Given the description of an element on the screen output the (x, y) to click on. 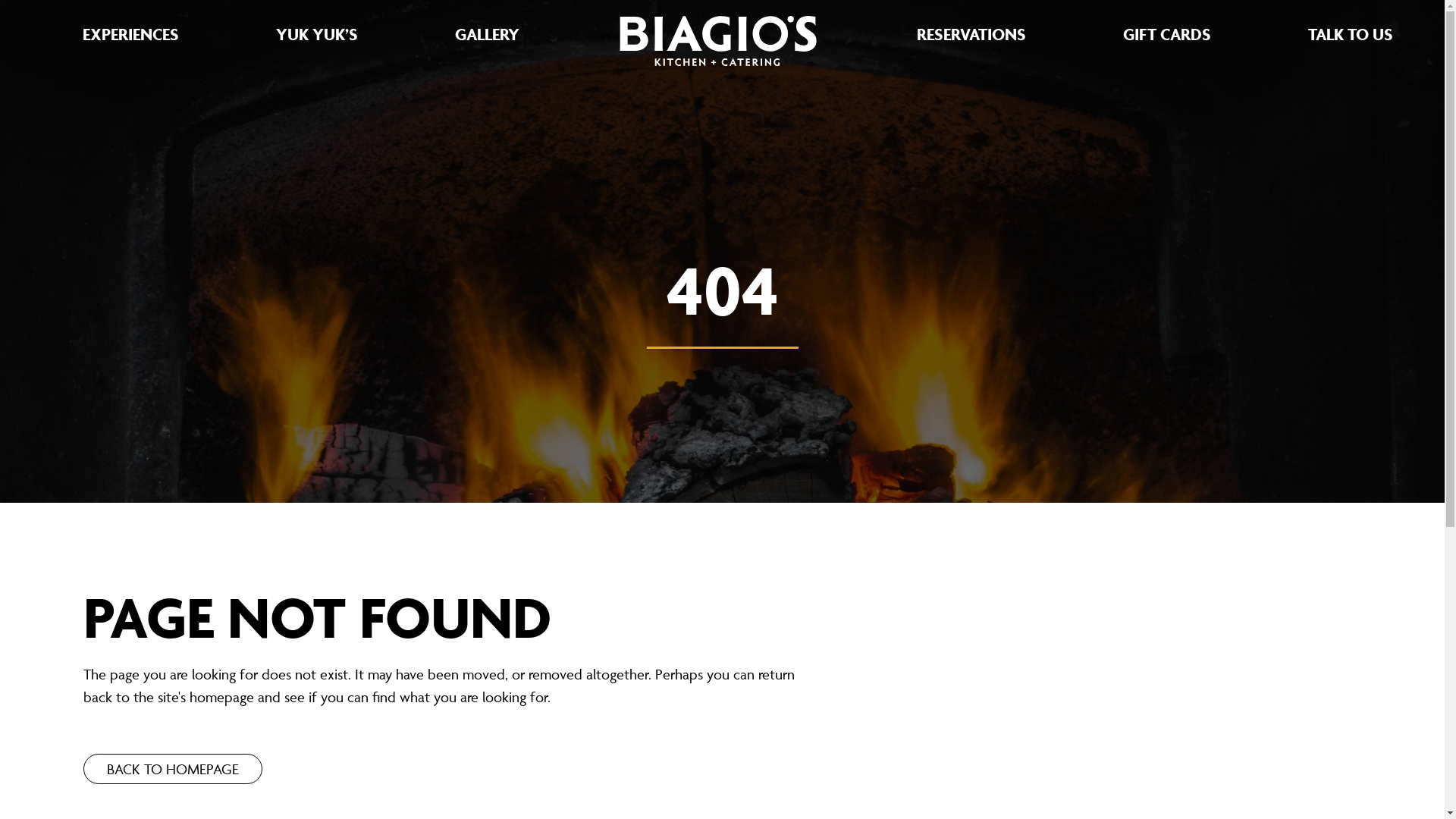
RESERVATIONS Element type: text (970, 34)
GIFT CARDS Element type: text (1166, 34)
EXPERIENCES Element type: text (129, 34)
BACK TO HOMEPAGE Element type: text (172, 768)
GALLERY Element type: text (486, 34)
TALK TO US Element type: text (1349, 34)
